Given the description of an element on the screen output the (x, y) to click on. 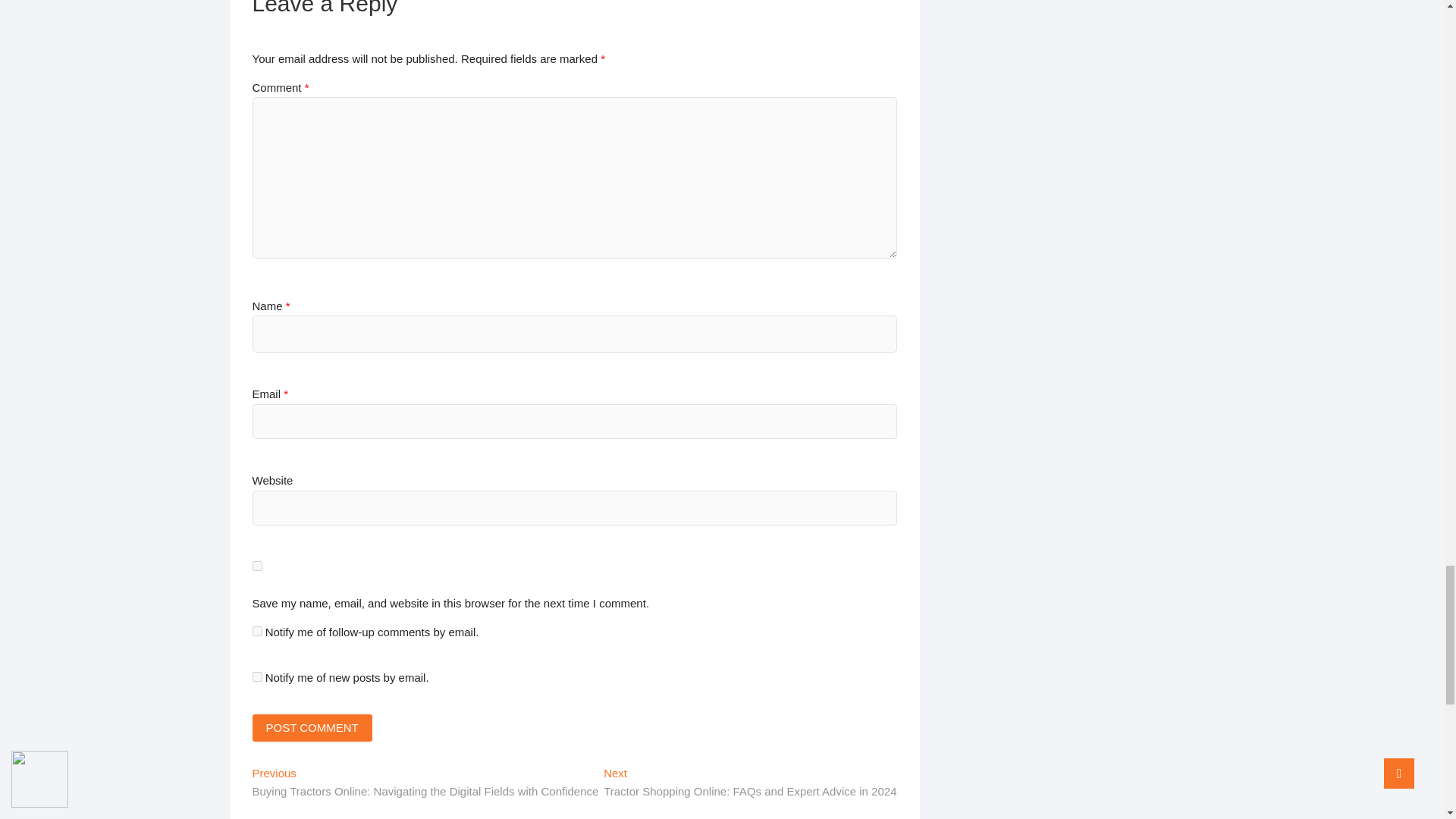
yes (256, 565)
Post Comment (311, 728)
subscribe (256, 676)
subscribe (256, 631)
